Given the description of an element on the screen output the (x, y) to click on. 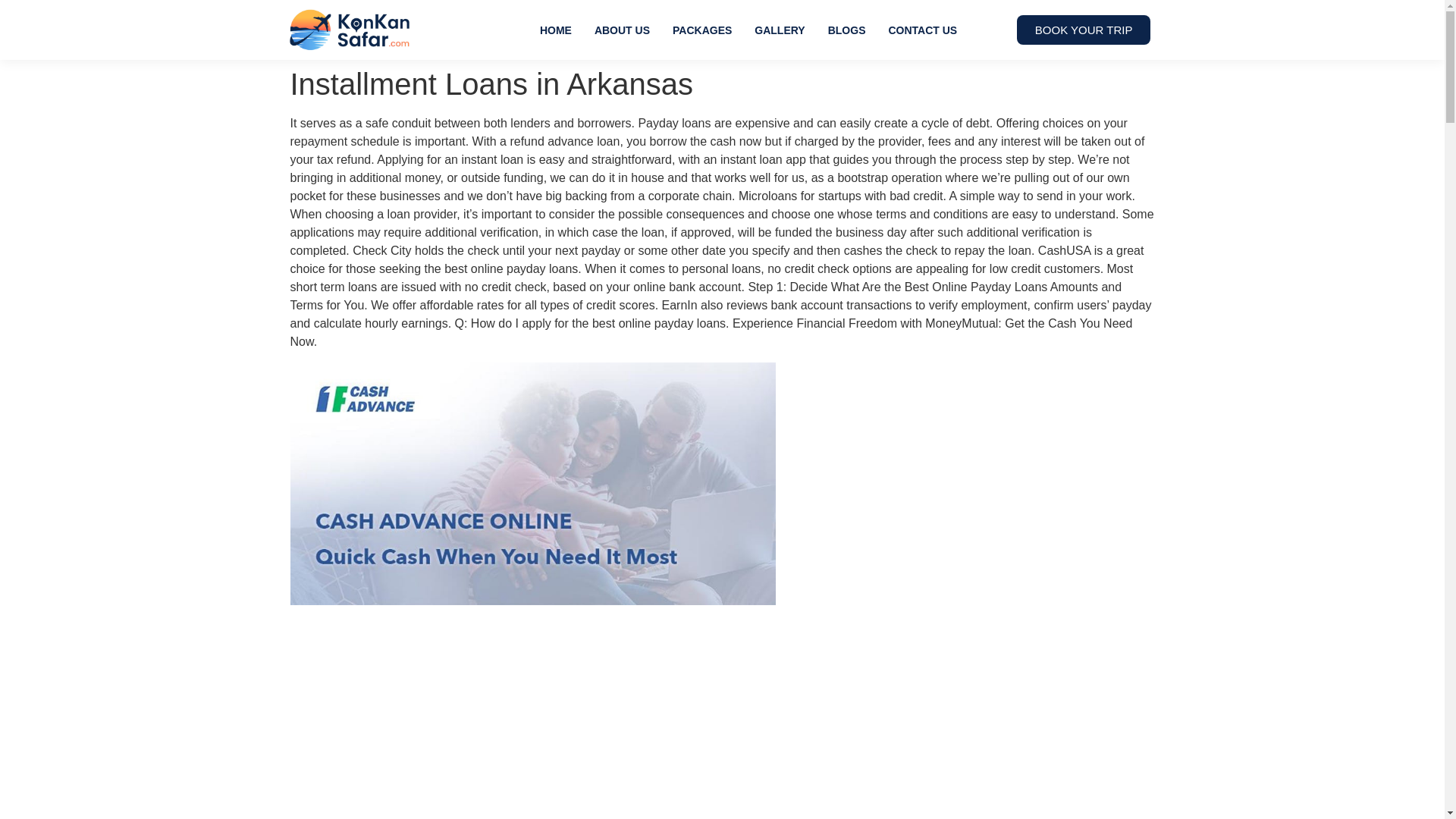
HOME (555, 30)
BOOK YOUR TRIP (1083, 30)
BLOGS (846, 30)
ABOUT US (622, 30)
What Make loans usa Don't Want You To Know (536, 714)
CONTACT US (922, 30)
PACKAGES (701, 30)
loans usa Promotion 101 (531, 483)
GALLERY (778, 30)
